Given the description of an element on the screen output the (x, y) to click on. 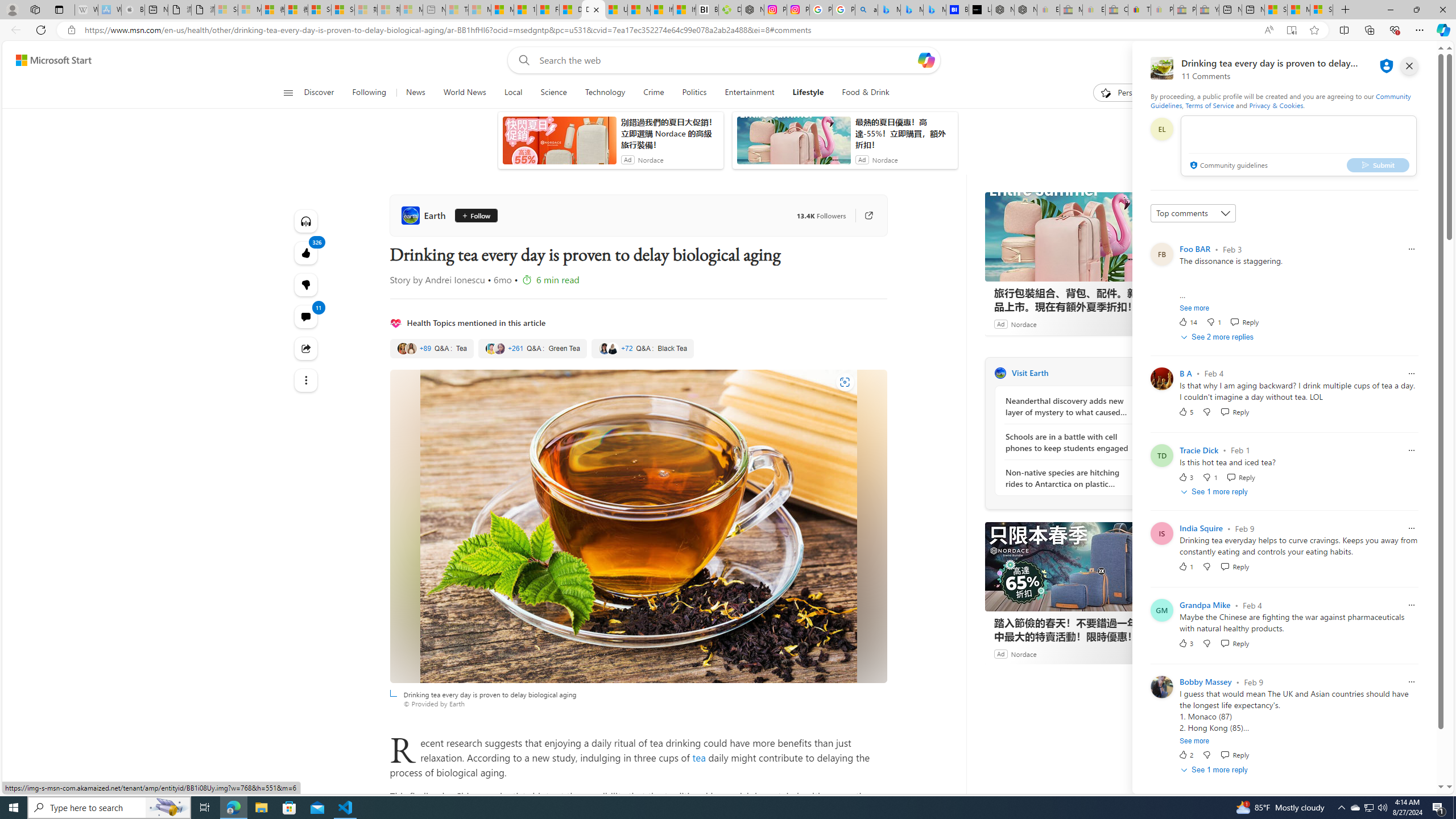
Listen to this article (305, 220)
Science (553, 92)
Buy iPad - Apple - Sleeping (132, 9)
Class: at-item (305, 380)
See 2 more replies (1218, 336)
Grandpa Mike (1204, 605)
Minimize (1390, 9)
Food & Drink (860, 92)
Skip to content (49, 59)
Threats and offensive language policy | eBay (1139, 9)
Top Stories - MSN - Sleeping (457, 9)
Payments Terms of Use | eBay.com - Sleeping (1161, 9)
Press Room - eBay Inc. - Sleeping (1185, 9)
Earth (424, 215)
